Given the description of an element on the screen output the (x, y) to click on. 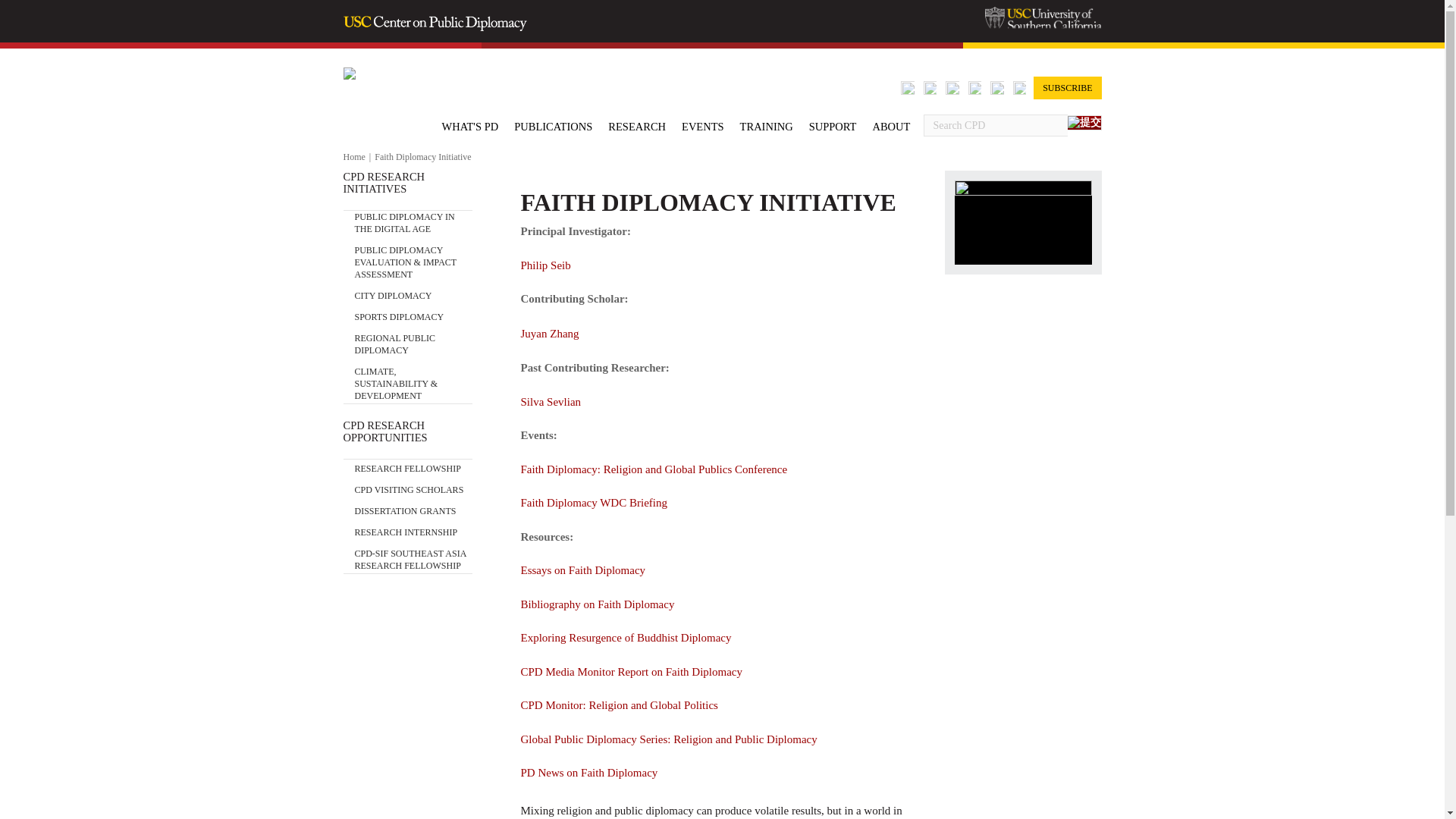
PUBLICATIONS (553, 126)
Search CPD (995, 125)
WHAT'S PD (469, 126)
CPD RESEARCH OPPORTUNITIES (406, 431)
SPORTS DIPLOMACY (399, 312)
RESEARCH FELLOWSHIP (408, 468)
RESEARCH (636, 126)
CITY DIPLOMACY (393, 291)
Home (353, 156)
